Given the description of an element on the screen output the (x, y) to click on. 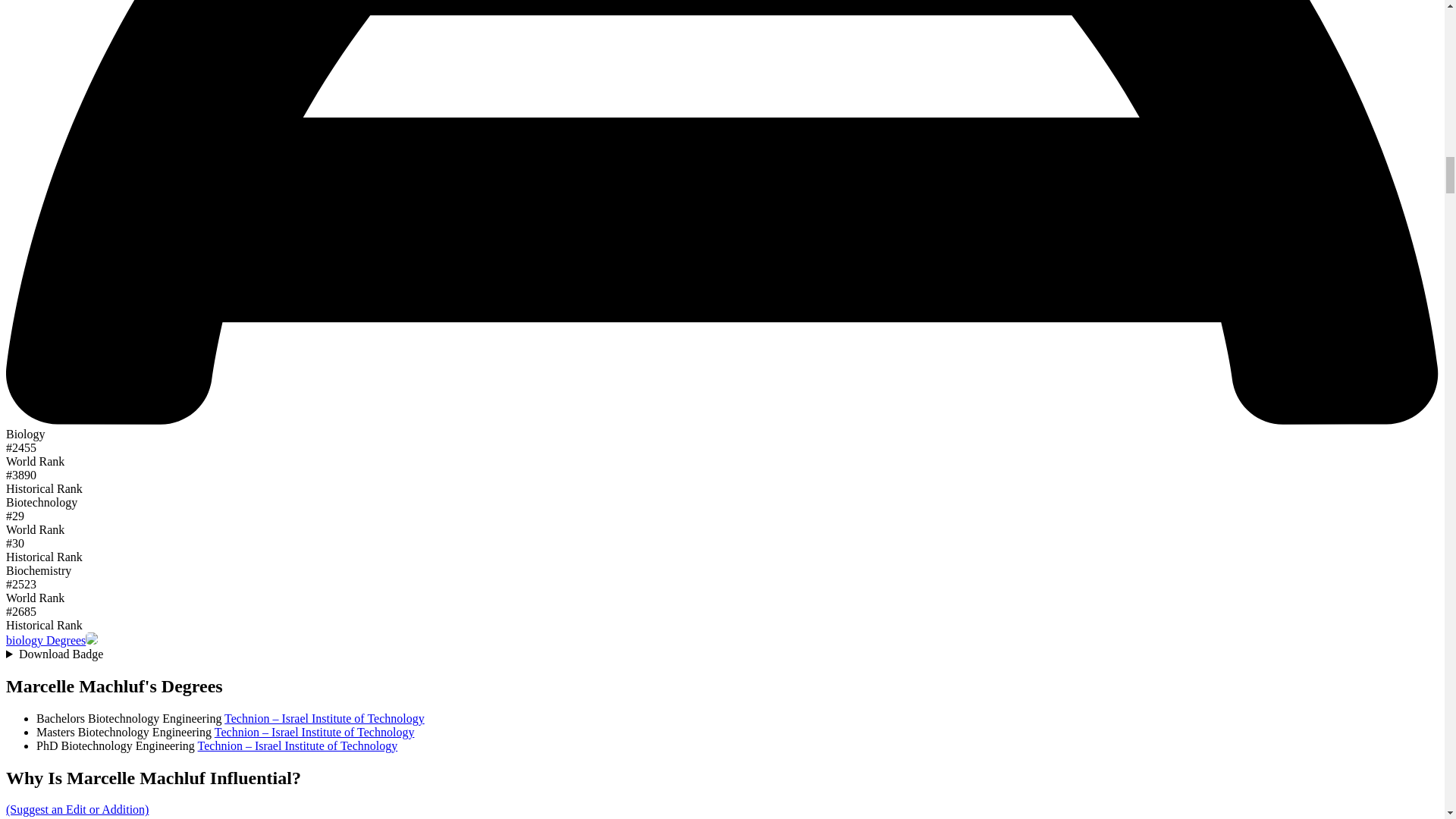
biology Degrees (45, 640)
